Given the description of an element on the screen output the (x, y) to click on. 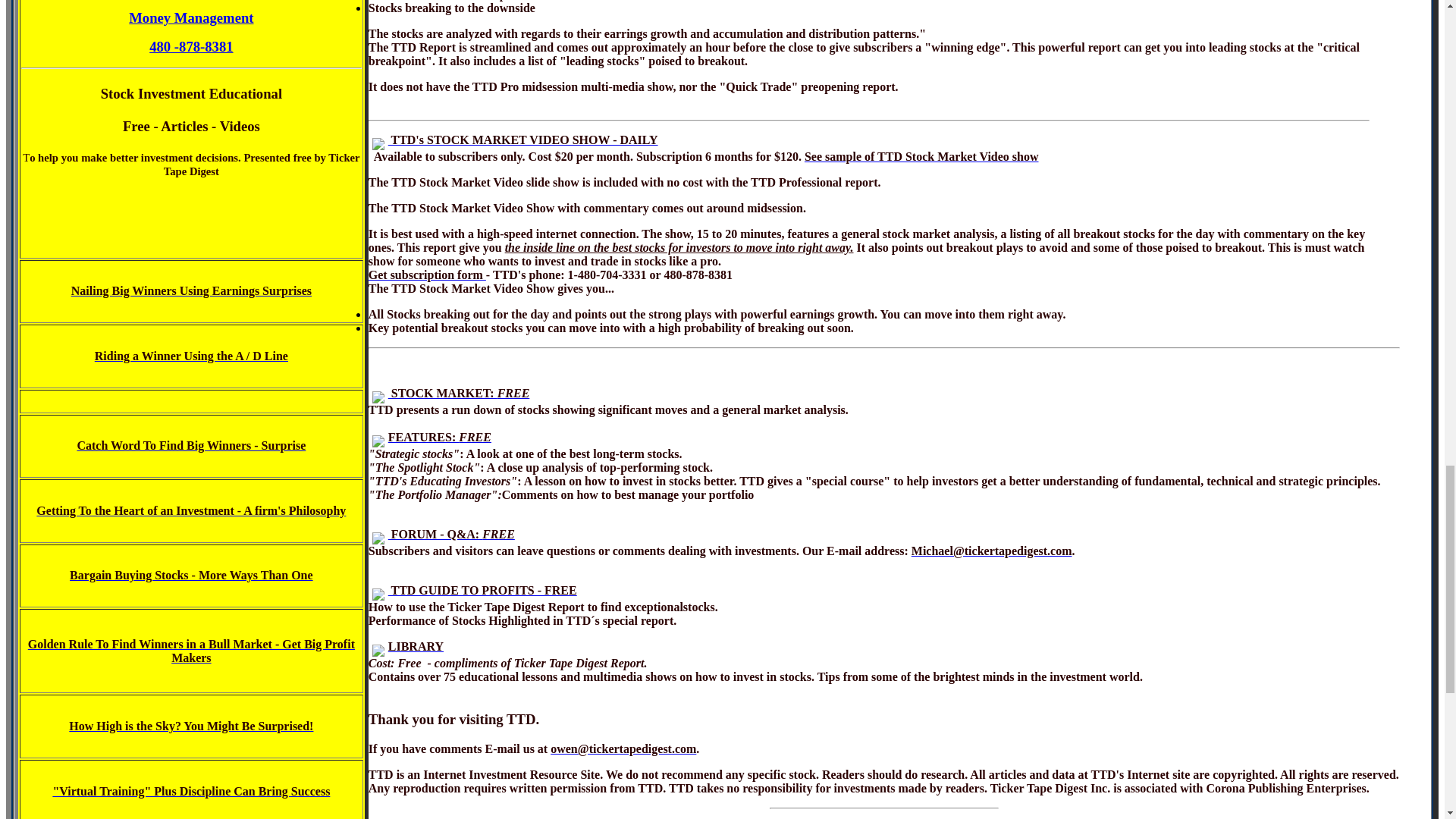
Bargain Buying Stocks - More Ways Than One (191, 574)
Catch Word To Find Big Winners - Surprise (191, 445)
Money Management (191, 18)
Nailing Big Winners Using Earnings Surprises (191, 290)
How High is the Sky? You Might Be Surprised! (190, 725)
"Virtual Training" Plus Discipline Can Bring Success (191, 790)
Getting To the Heart of an Investment - A firm's Philosophy (191, 510)
480 -878-8381 (190, 46)
